Given the description of an element on the screen output the (x, y) to click on. 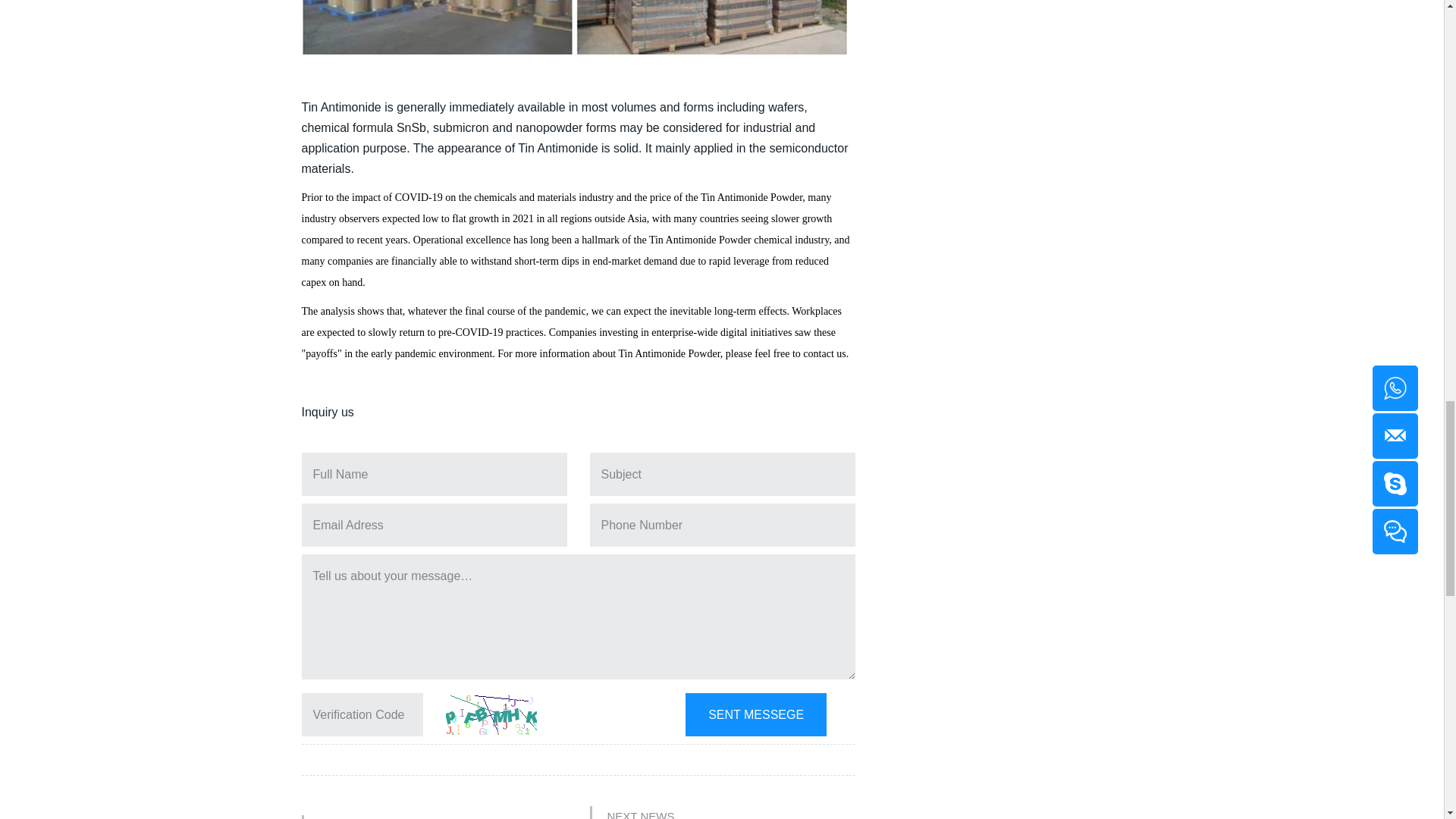
packing (574, 27)
Sent Messege (756, 714)
